Given the description of an element on the screen output the (x, y) to click on. 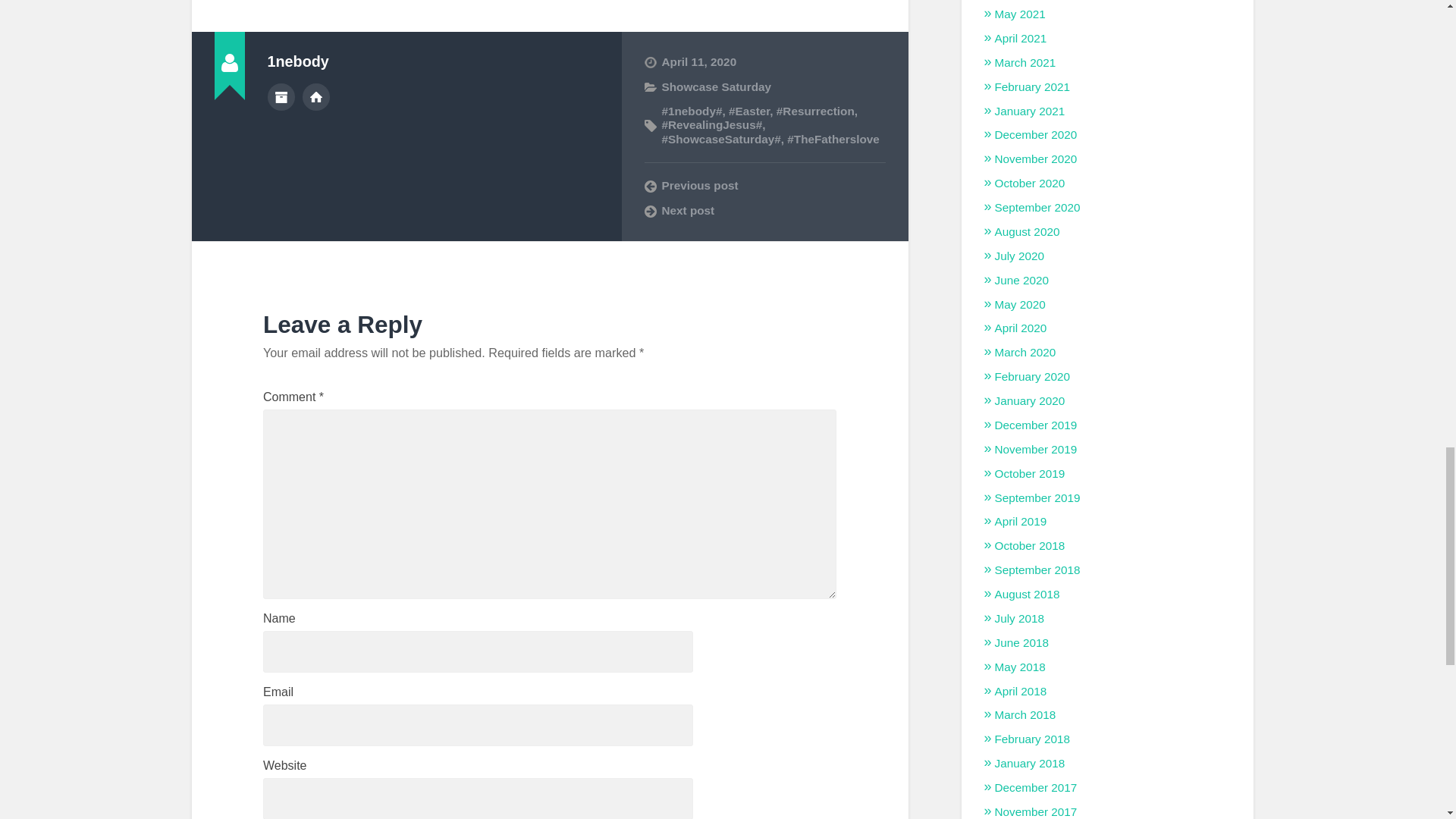
Previous post (765, 185)
Author archive (280, 96)
Showcase Saturday (716, 86)
Author website (316, 96)
Next post (765, 210)
